Given the description of an element on the screen output the (x, y) to click on. 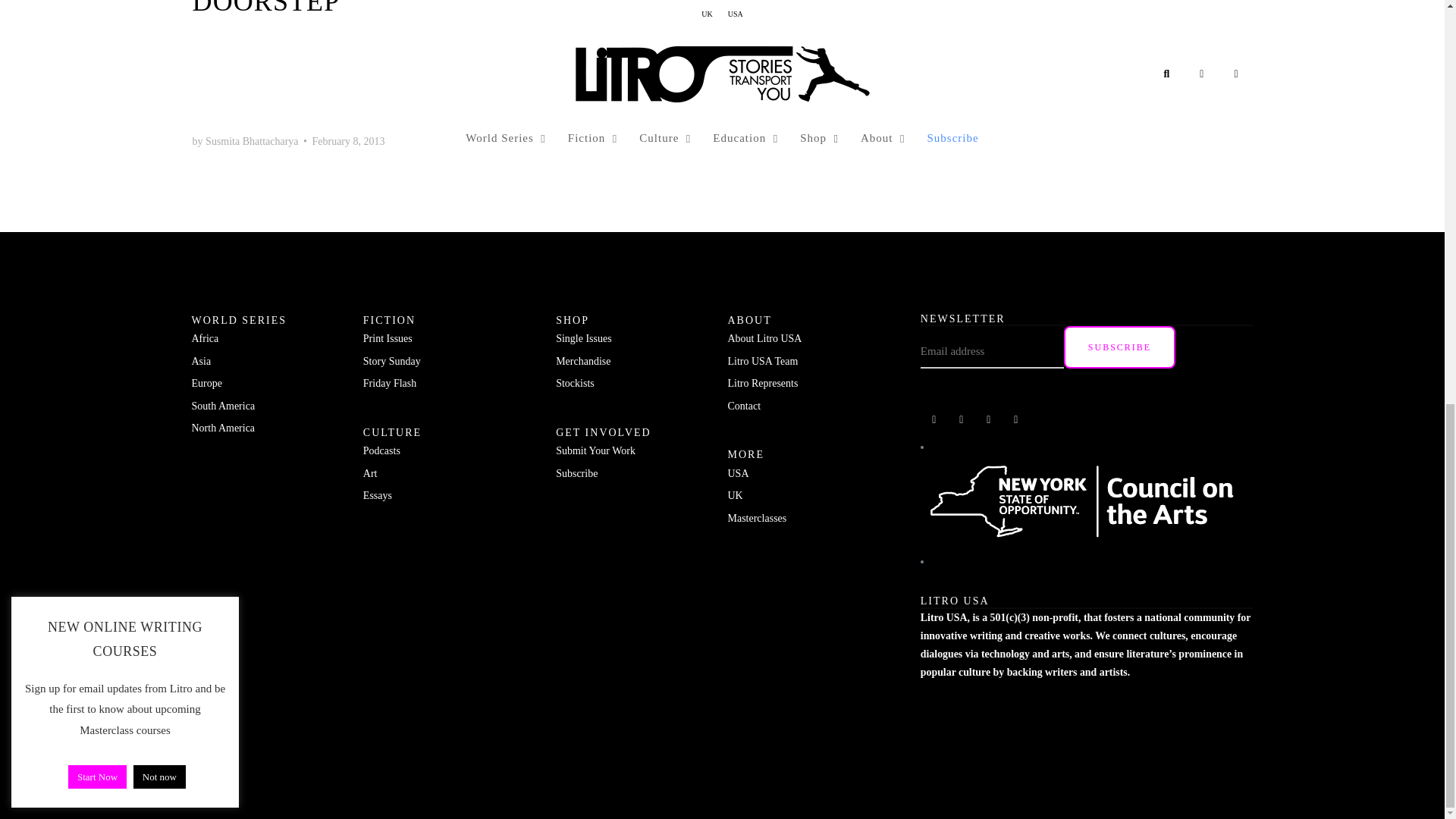
View all posts by Susmita Bhattacharya (251, 140)
Twitter (1016, 419)
Instagram (989, 419)
Spotify (961, 419)
Subscribe (1119, 346)
Facebook (933, 419)
8:00 AM (347, 140)
